Given the description of an element on the screen output the (x, y) to click on. 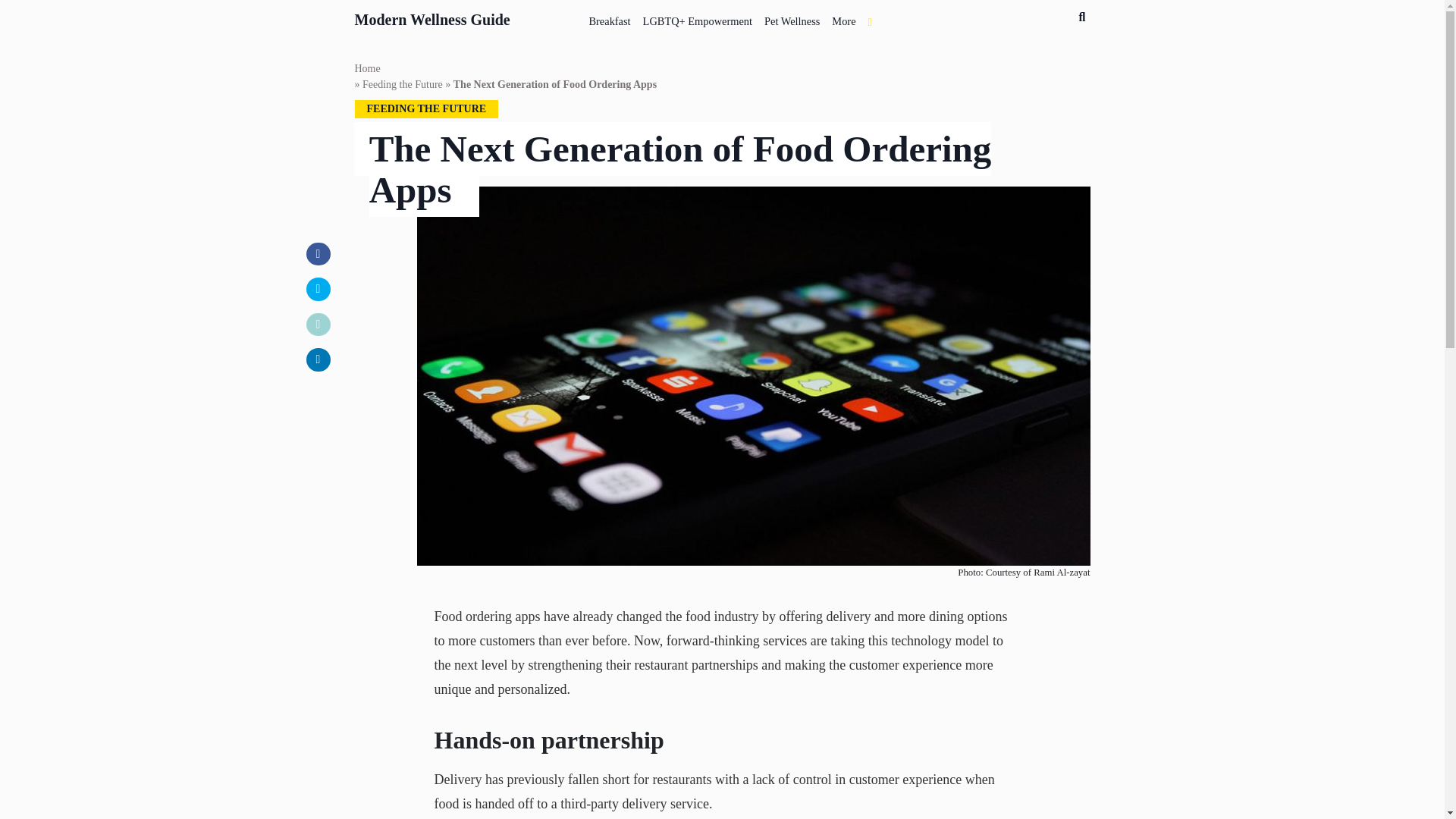
Modern Wellness Guide (433, 17)
Pet Wellness (791, 18)
Breakfast (609, 18)
More (843, 18)
